Given the description of an element on the screen output the (x, y) to click on. 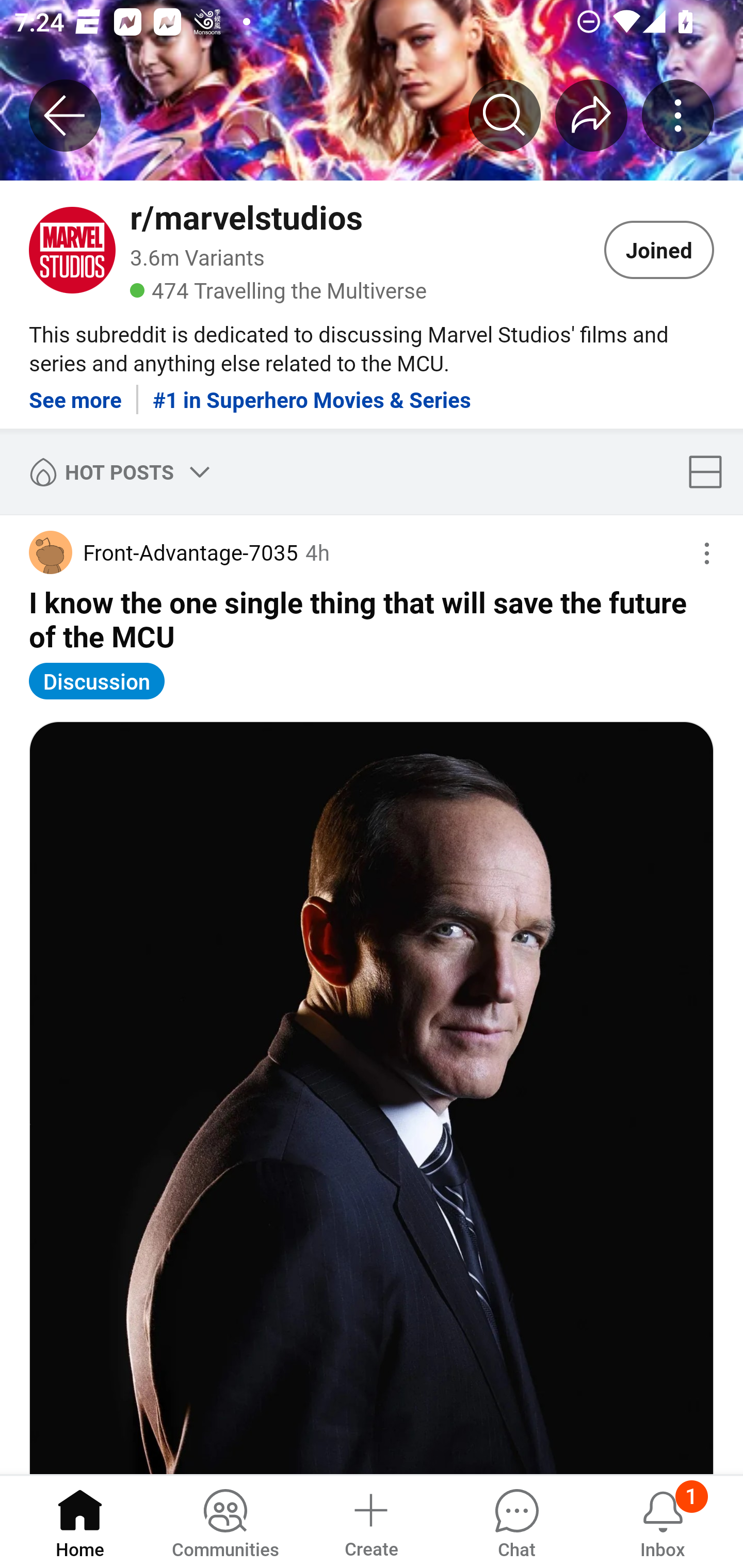
Back (64, 115)
Search r/﻿marvelstudios (504, 115)
Share r/﻿marvelstudios (591, 115)
More community actions (677, 115)
See more (74, 391)
#1 in Superhero Movies & Series (312, 391)
HOT POSTS Sort by Hot posts (115, 471)
Card display (711, 471)
Author Front-Advantage-7035 (162, 552)
Discussion (96, 681)
Image (371, 1097)
Home (80, 1520)
Communities (225, 1520)
Create a post Create (370, 1520)
Chat (516, 1520)
Inbox, has 1 notification 1 Inbox (662, 1520)
